Given the description of an element on the screen output the (x, y) to click on. 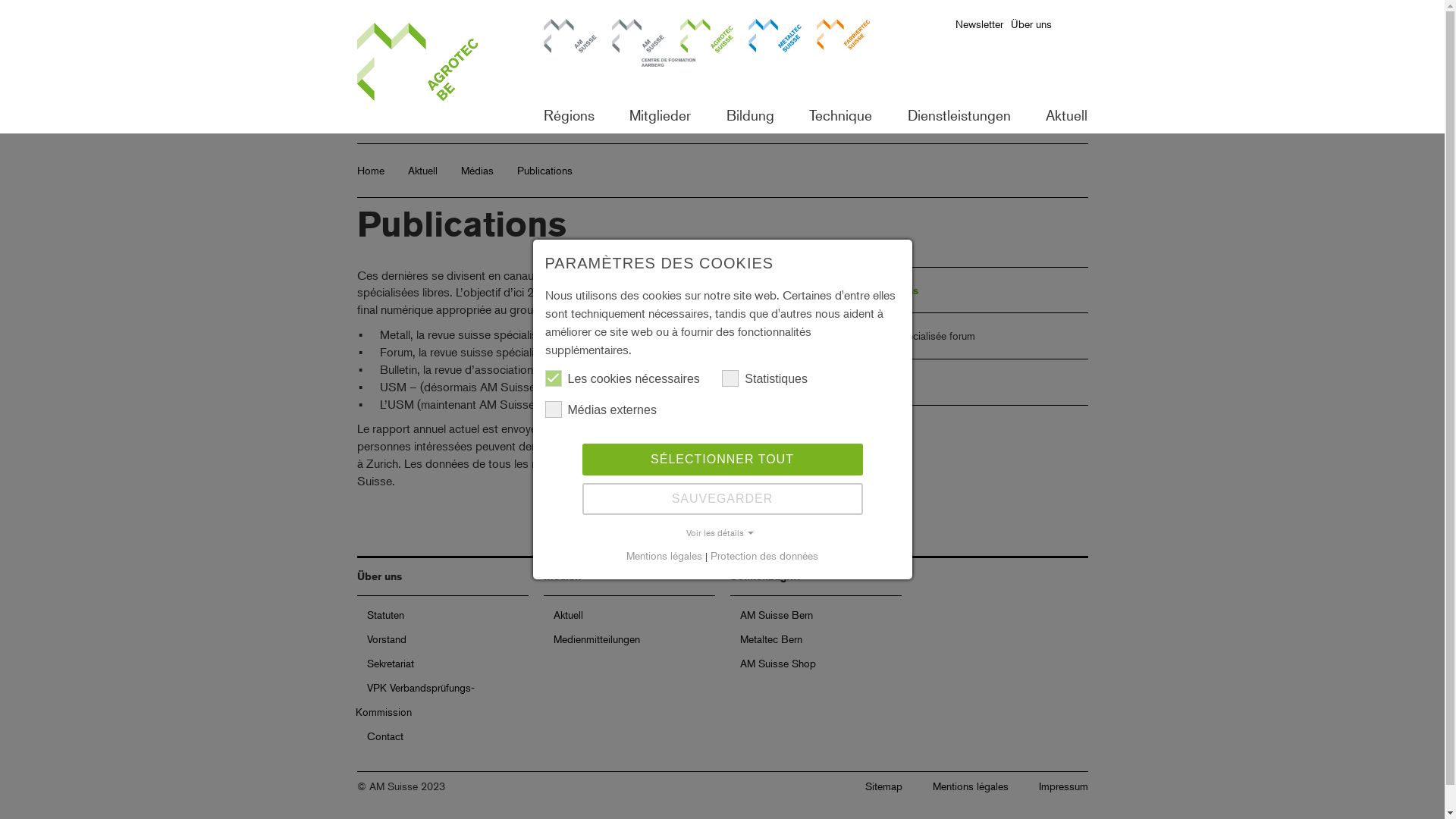
Aktuell Element type: text (561, 614)
Publications Element type: text (544, 169)
Contact Element type: text (378, 735)
Medienmitteilungen Element type: text (590, 638)
Centre de formation Aarberg Element type: text (637, 45)
Metaltec Bern Element type: text (764, 638)
Statuten Element type: text (378, 614)
Publications Element type: text (970, 289)
Vorstand Element type: text (379, 638)
Agrotec Suisse Element type: hover (435, 67)
Impressum Element type: text (1063, 785)
Metaltec Suisse Element type: text (773, 45)
Agrotec Suisse Element type: text (705, 45)
Newsletter Element type: text (982, 27)
Home Element type: text (369, 169)
AM Suisse Element type: text (569, 45)
SAUVEGARDER Element type: text (722, 498)
AM Suisse Bern Element type: text (770, 614)
AM Suisse Shop Element type: text (771, 662)
Sitemap Element type: text (882, 785)
Farriertec Suisse Element type: text (842, 45)
Sekretariat Element type: text (383, 662)
Newsletter Element type: text (970, 381)
Aktuell Element type: text (422, 169)
